Given the description of an element on the screen output the (x, y) to click on. 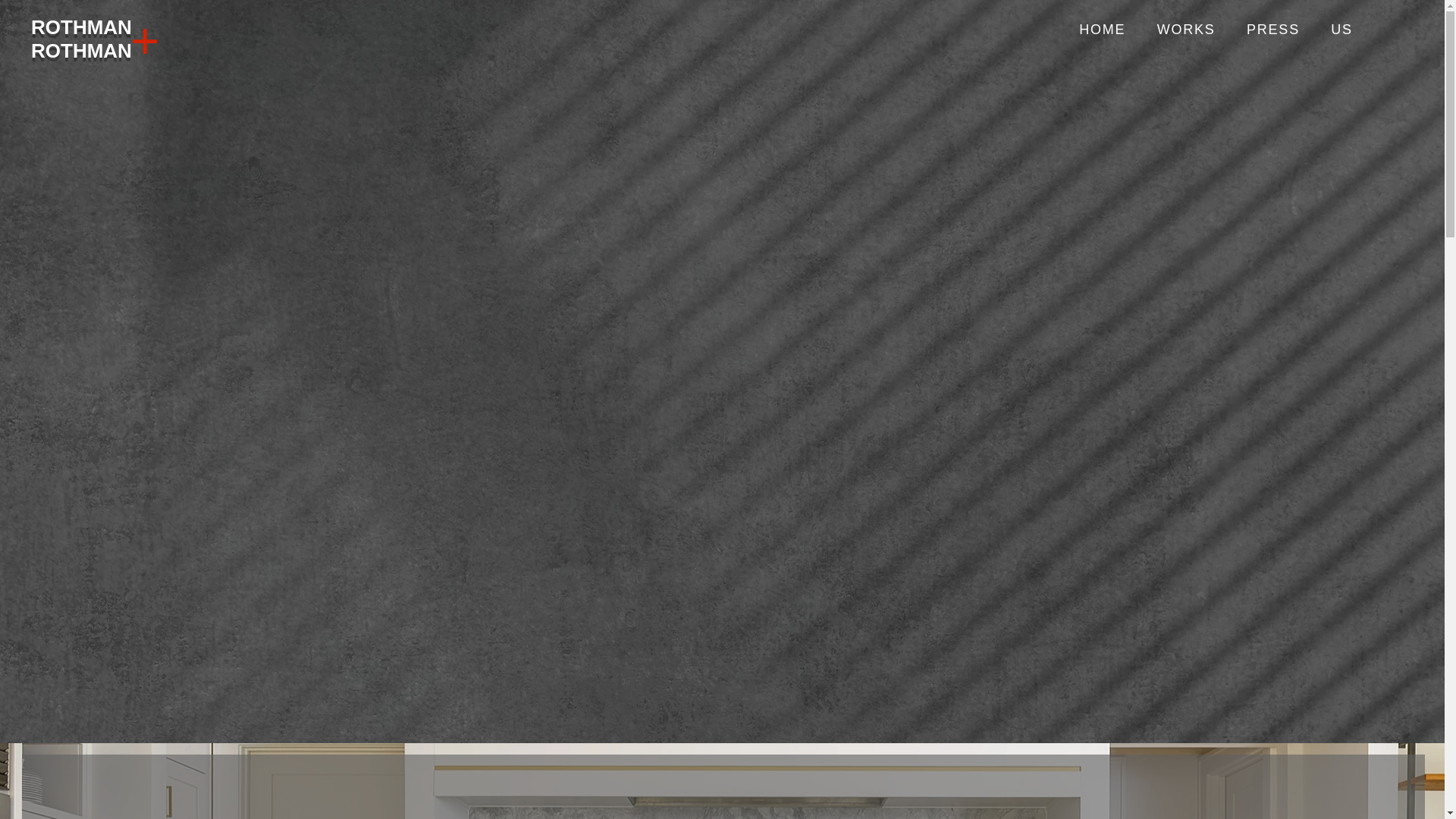
US (1342, 30)
PRESS (1272, 30)
HOME (1101, 30)
WORKS (1185, 30)
